Given the description of an element on the screen output the (x, y) to click on. 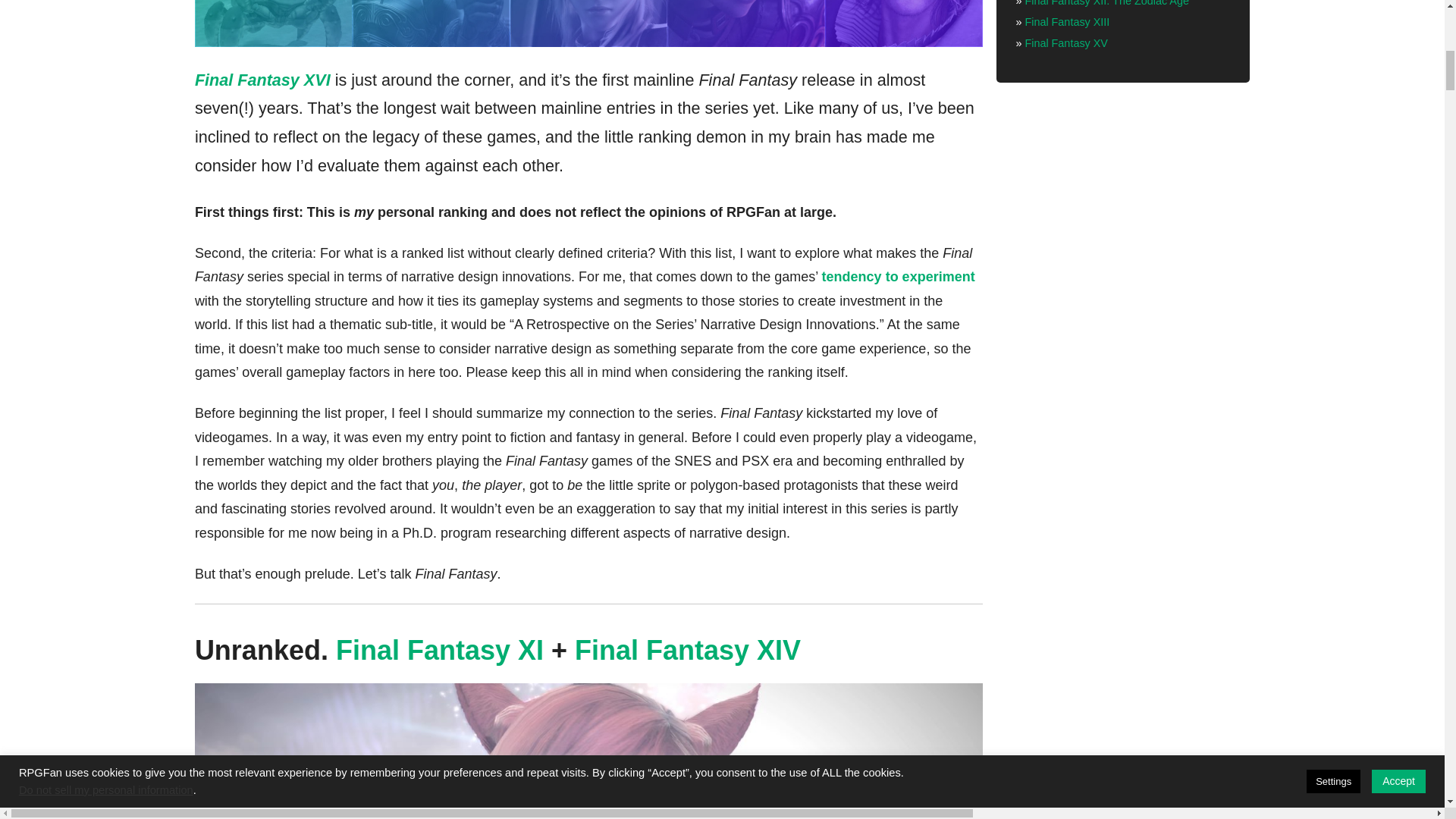
Final Fantasy XVI (262, 79)
Final Fantasy XIV (687, 649)
Final Fantasy XI (439, 649)
tendency to experiment (898, 276)
